Given the description of an element on the screen output the (x, y) to click on. 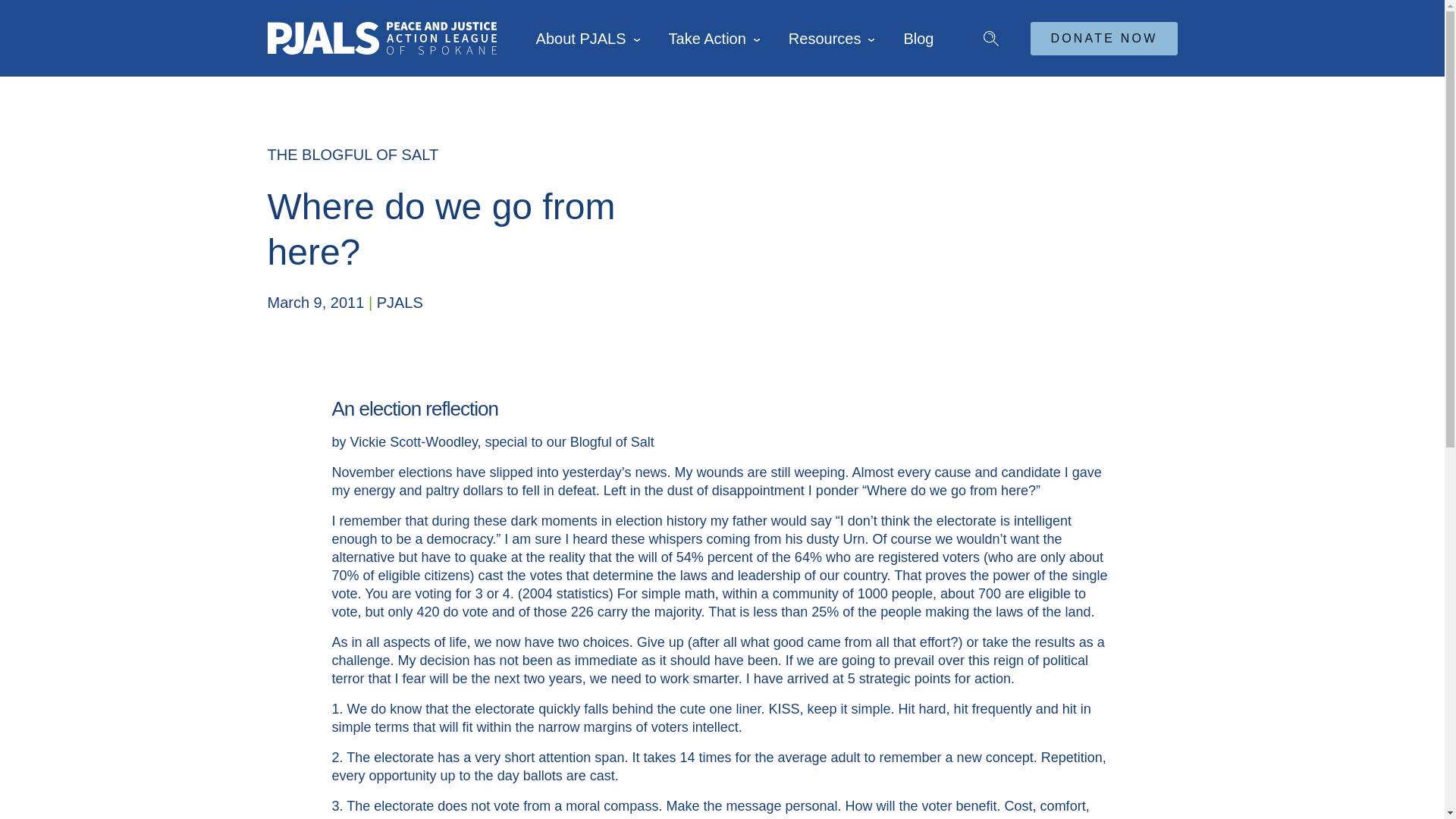
action (707, 38)
Take Action (707, 38)
Resources (824, 38)
About PJALS (581, 38)
Blog (918, 38)
about-pjals (581, 38)
resources (824, 38)
search (984, 31)
Search (984, 31)
DONATE NOW (1103, 38)
